Given the description of an element on the screen output the (x, y) to click on. 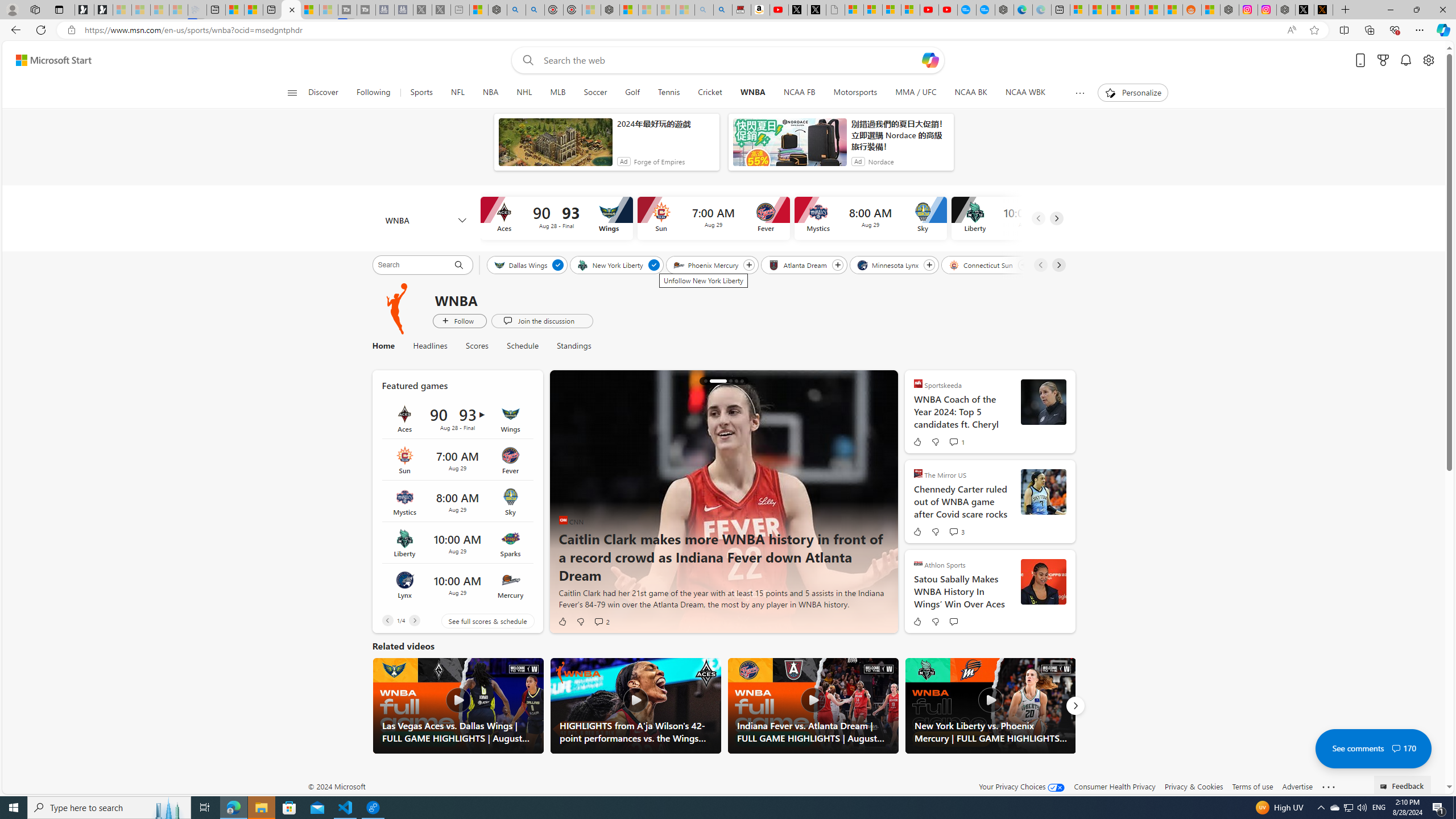
Headlines (430, 345)
Nordace (@NordaceOfficial) / X (1304, 9)
Open settings (1427, 60)
Class: feedback_link_icon-DS-EntryPoint1-1 (1384, 786)
usatsi_21497924 (1042, 581)
Nordace - Nordace has arrived Hong Kong (1004, 9)
Web search (526, 60)
Forge of Empires (658, 161)
